Given the description of an element on the screen output the (x, y) to click on. 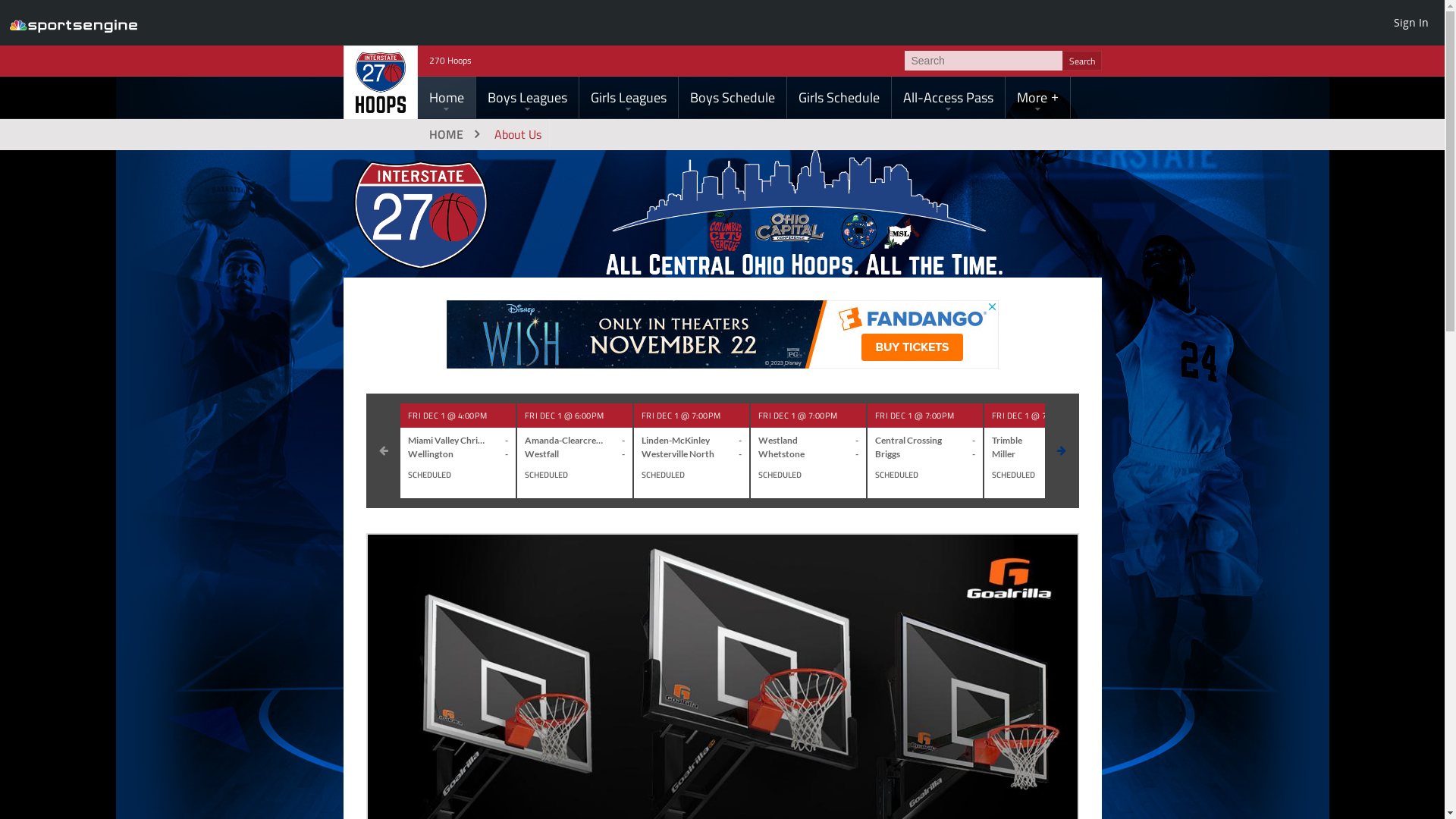
Sign In Element type: text (1410, 22)
Girls Schedule Element type: text (839, 97)
Home Element type: text (445, 97)
FRI DEC 1 @ 6:00PM
Amanda-Clearcreek
-
Westfall
-
SCHEDULED Element type: text (574, 450)
Girls Leagues Element type: text (628, 97)
Boys Leagues Element type: text (527, 97)
FRI DEC 1 @ 7:00PM
Central Crossing
-
Briggs
-
SCHEDULED Element type: text (924, 450)
HOME Element type: text (451, 134)
All-Access Pass Element type: text (947, 97)
Boys Schedule Element type: text (731, 97)
SportsEngine Element type: text (73, 22)
FRI DEC 1 @ 7:00PM
Westland
-
Whetstone
-
SCHEDULED Element type: text (808, 450)
3rd party ad content Element type: hover (721, 334)
About Us Element type: text (517, 134)
More Element type: text (1037, 97)
FRI DEC 1 @ 7:00PM
Trimble
Miller
SCHEDULED Element type: text (1041, 450)
